Given the description of an element on the screen output the (x, y) to click on. 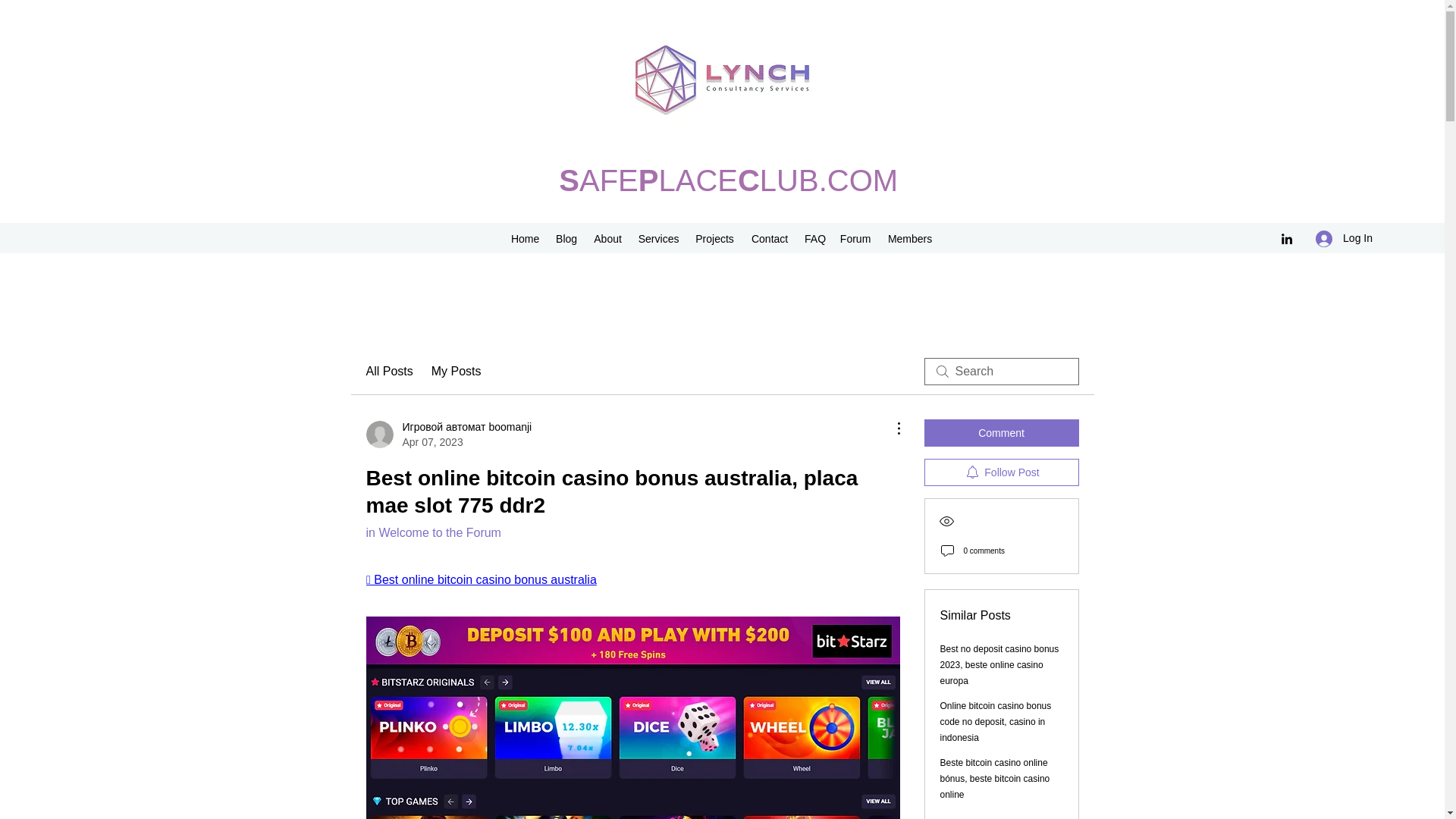
SAFEPLACECLUB.COM (728, 180)
Forum (855, 238)
Members (909, 238)
My Posts (455, 371)
Home (524, 238)
About (607, 238)
All Posts (388, 371)
Log In (1343, 238)
Contact (769, 238)
Follow Post (1000, 472)
FAQ (813, 238)
Comment (1000, 432)
Blog (566, 238)
